Given the description of an element on the screen output the (x, y) to click on. 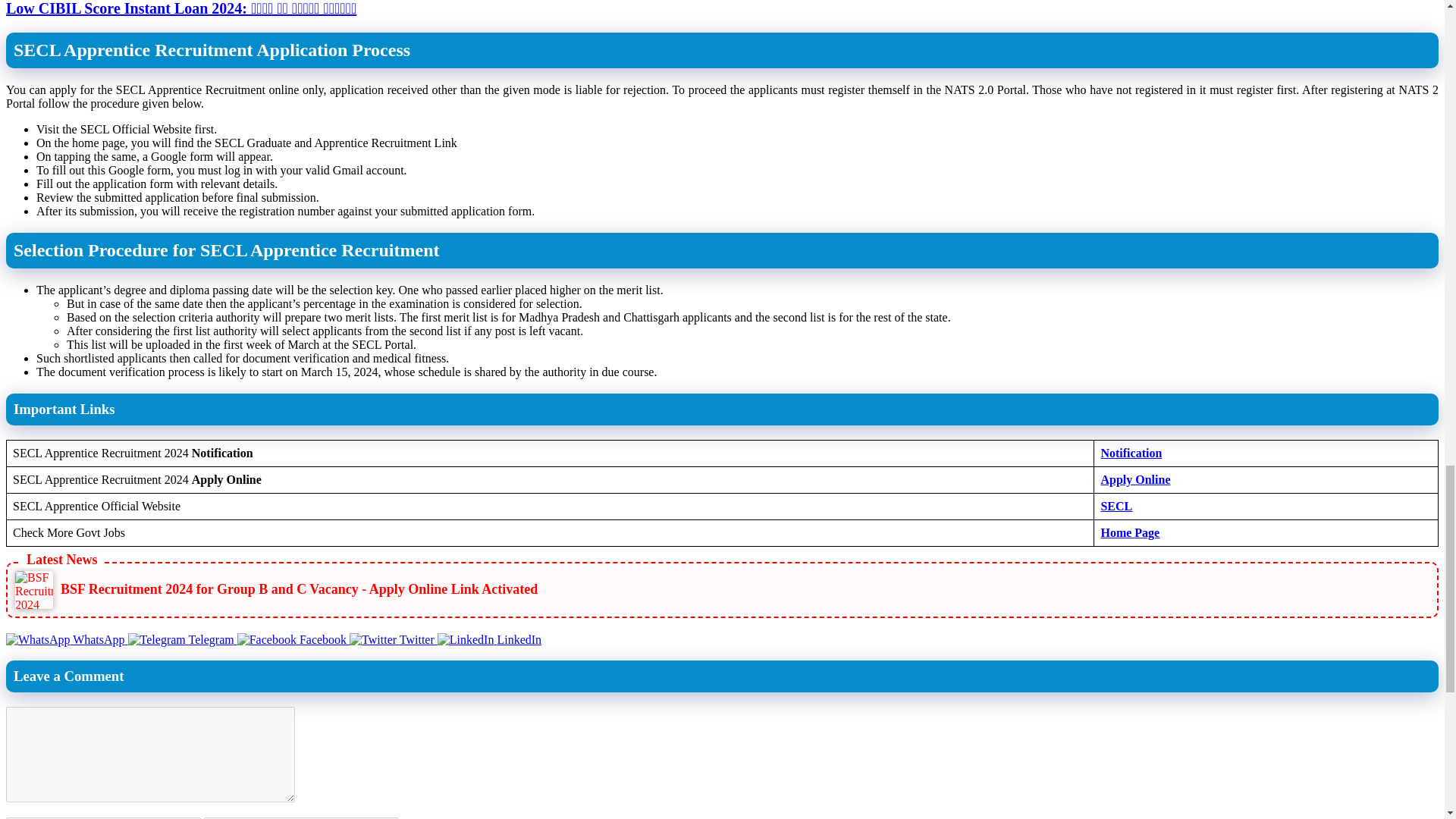
Apply Online (1135, 479)
WhatsApp (66, 639)
Home Page (1129, 532)
Twitter (393, 639)
Facebook (293, 639)
SECL (1116, 505)
Notification (1130, 452)
Telegram (182, 639)
LinkedIn (489, 639)
